Given the description of an element on the screen output the (x, y) to click on. 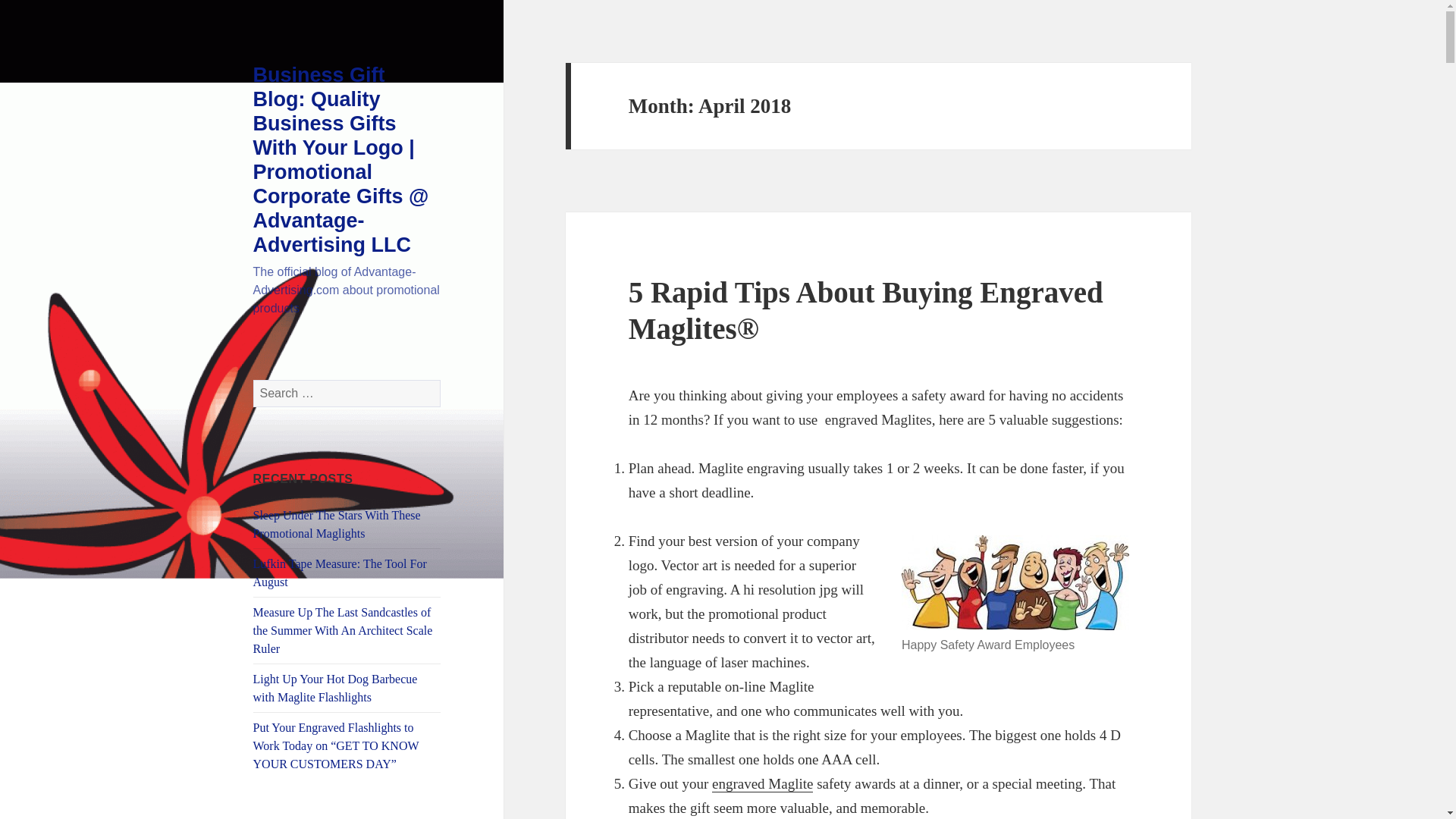
Lufkin Tape Measure: The Tool For August (339, 572)
Light Up Your Hot Dog Barbecue with Maglite Flashlights (335, 687)
Sleep Under The Stars With These Promotional Maglights (336, 523)
